Given the description of an element on the screen output the (x, y) to click on. 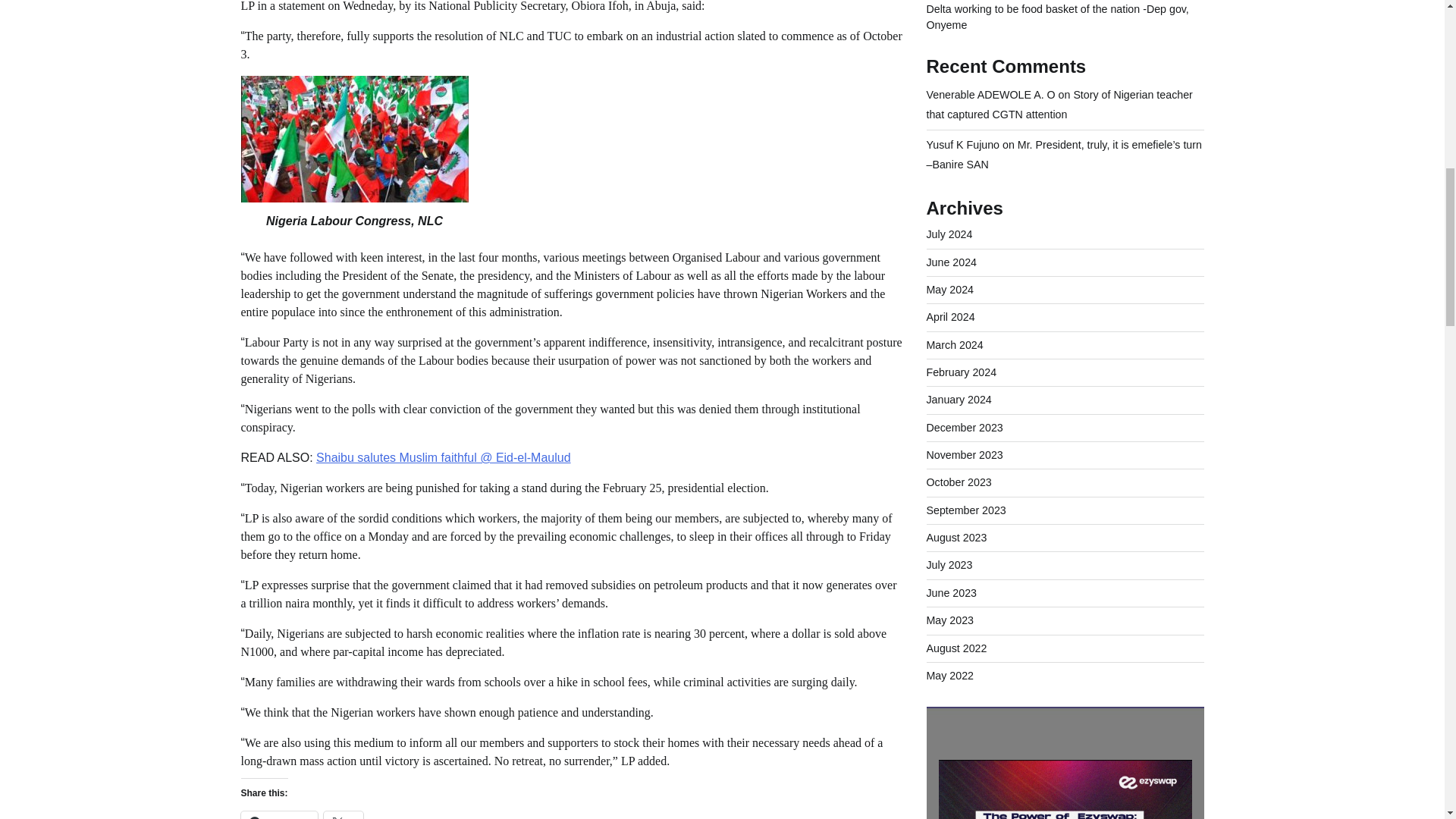
X (343, 815)
Click to share on X (343, 815)
Facebook (279, 815)
Click to share on Facebook (279, 815)
